Given the description of an element on the screen output the (x, y) to click on. 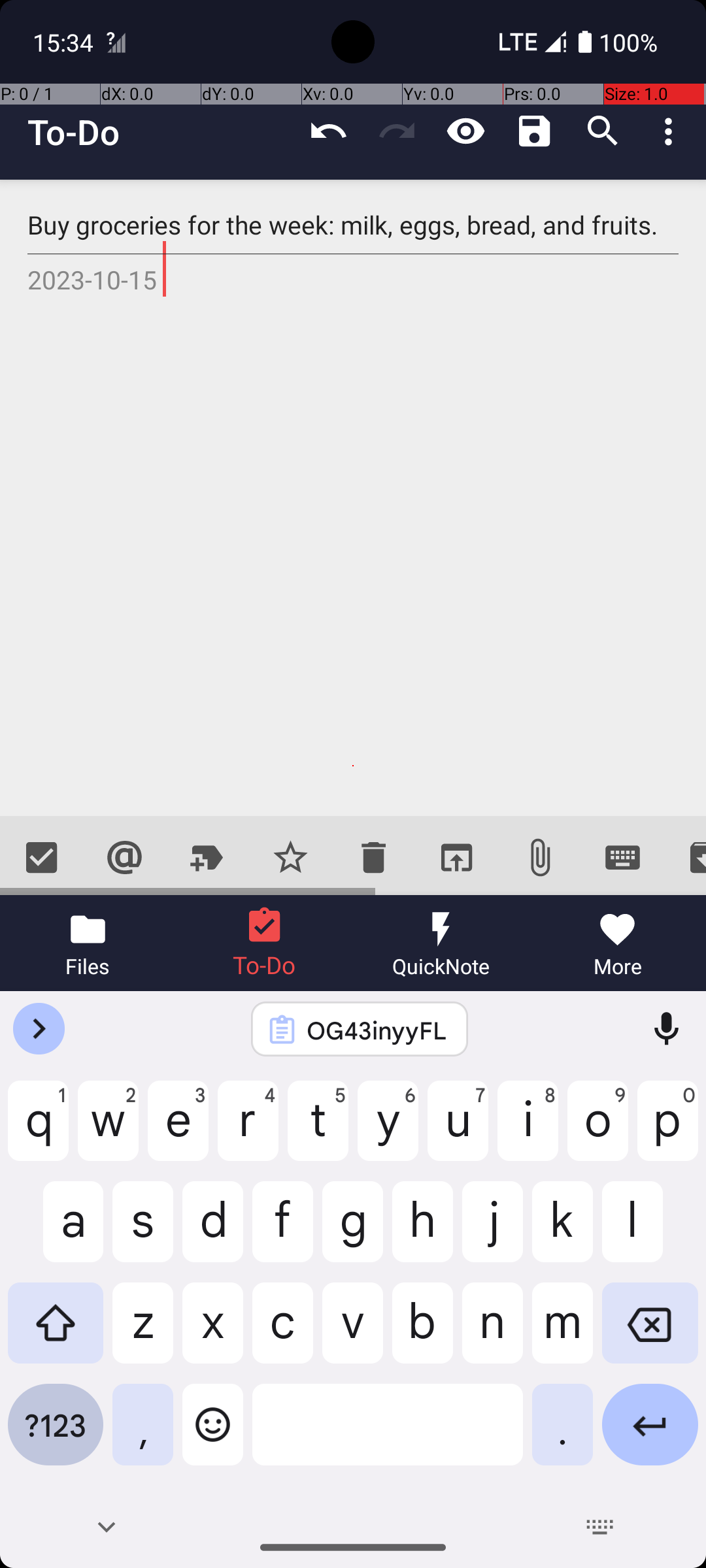
Buy groceries for the week: milk, eggs, bread, and fruits.
2023-10-15  Element type: android.widget.EditText (353, 497)
OG43inyyFL Element type: android.widget.TextView (376, 1029)
